Given the description of an element on the screen output the (x, y) to click on. 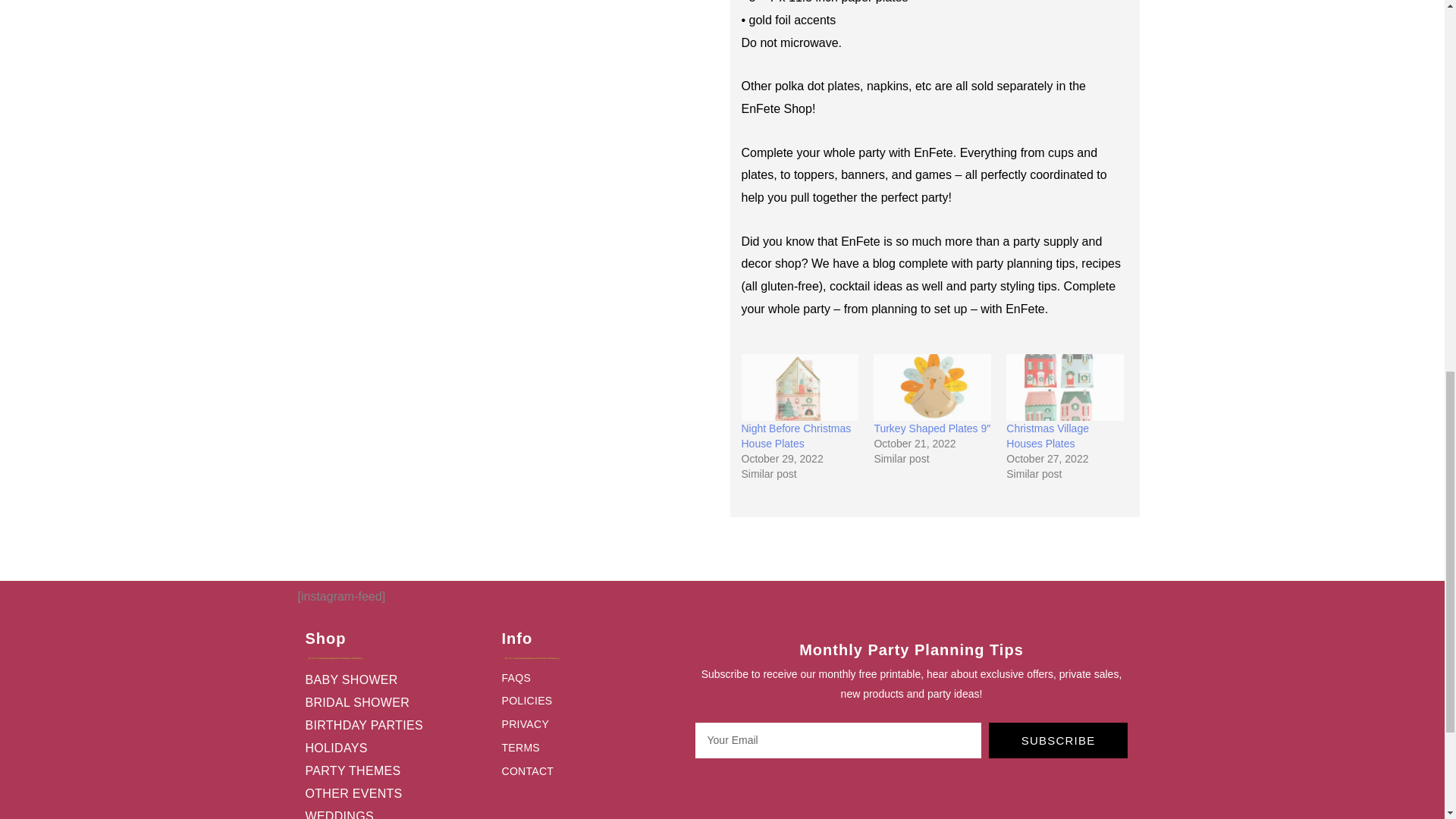
gold line 81px-04 (532, 657)
Christmas Village Houses Plates (1047, 435)
gold line 81px-04 (334, 657)
Night Before Christmas House Plates (796, 435)
Night Before Christmas House Plates (800, 387)
Christmas Village Houses Plates (1065, 387)
